Given the description of an element on the screen output the (x, y) to click on. 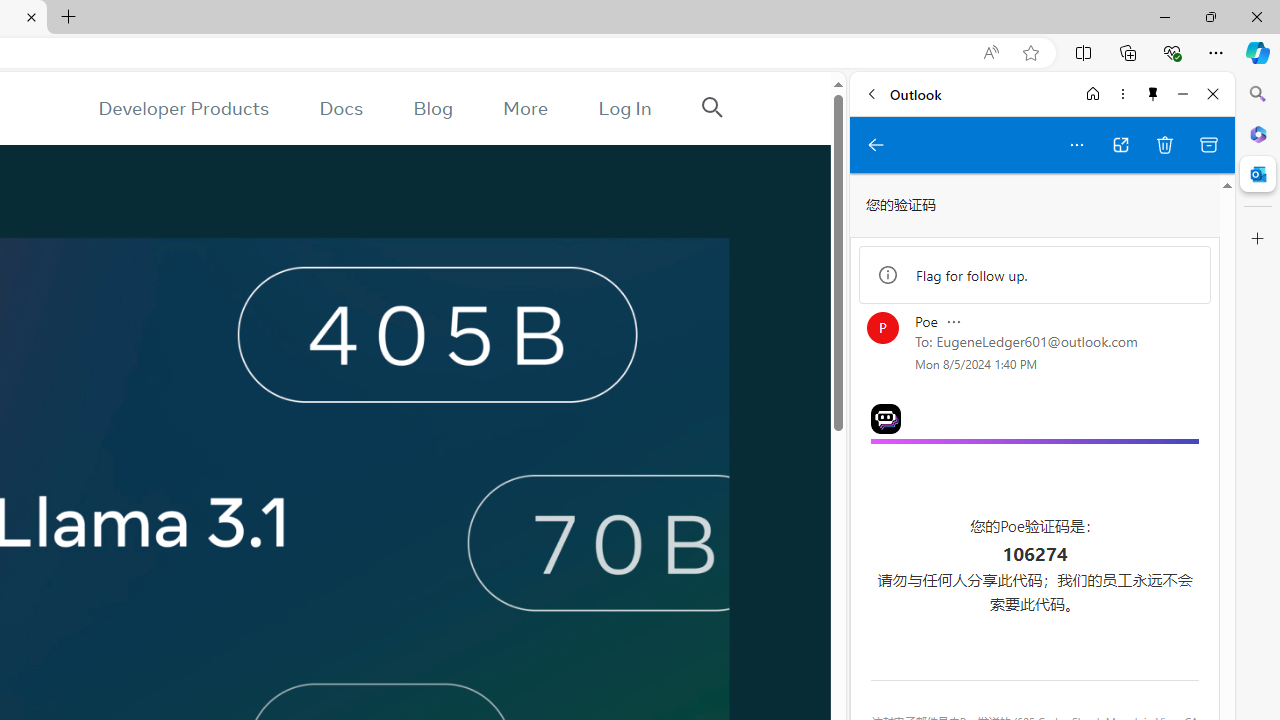
Docs (341, 108)
Contact card for Poe (882, 327)
More (525, 108)
Developer Products (183, 108)
More (525, 108)
Archive (1208, 144)
Blog (432, 108)
Delete (1165, 144)
Message actions (953, 321)
Blog (432, 108)
